Given the description of an element on the screen output the (x, y) to click on. 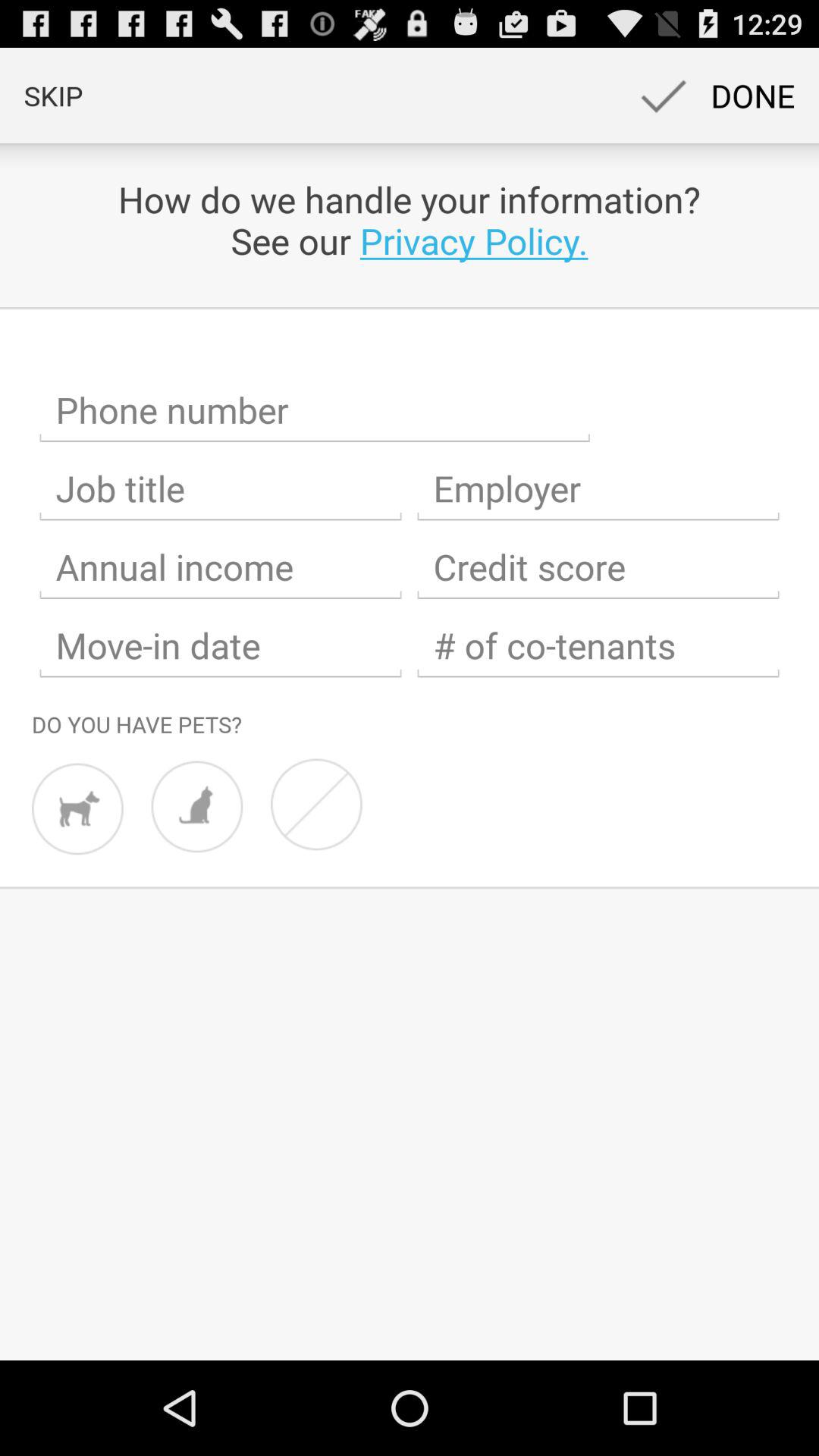
user information box (220, 567)
